Given the description of an element on the screen output the (x, y) to click on. 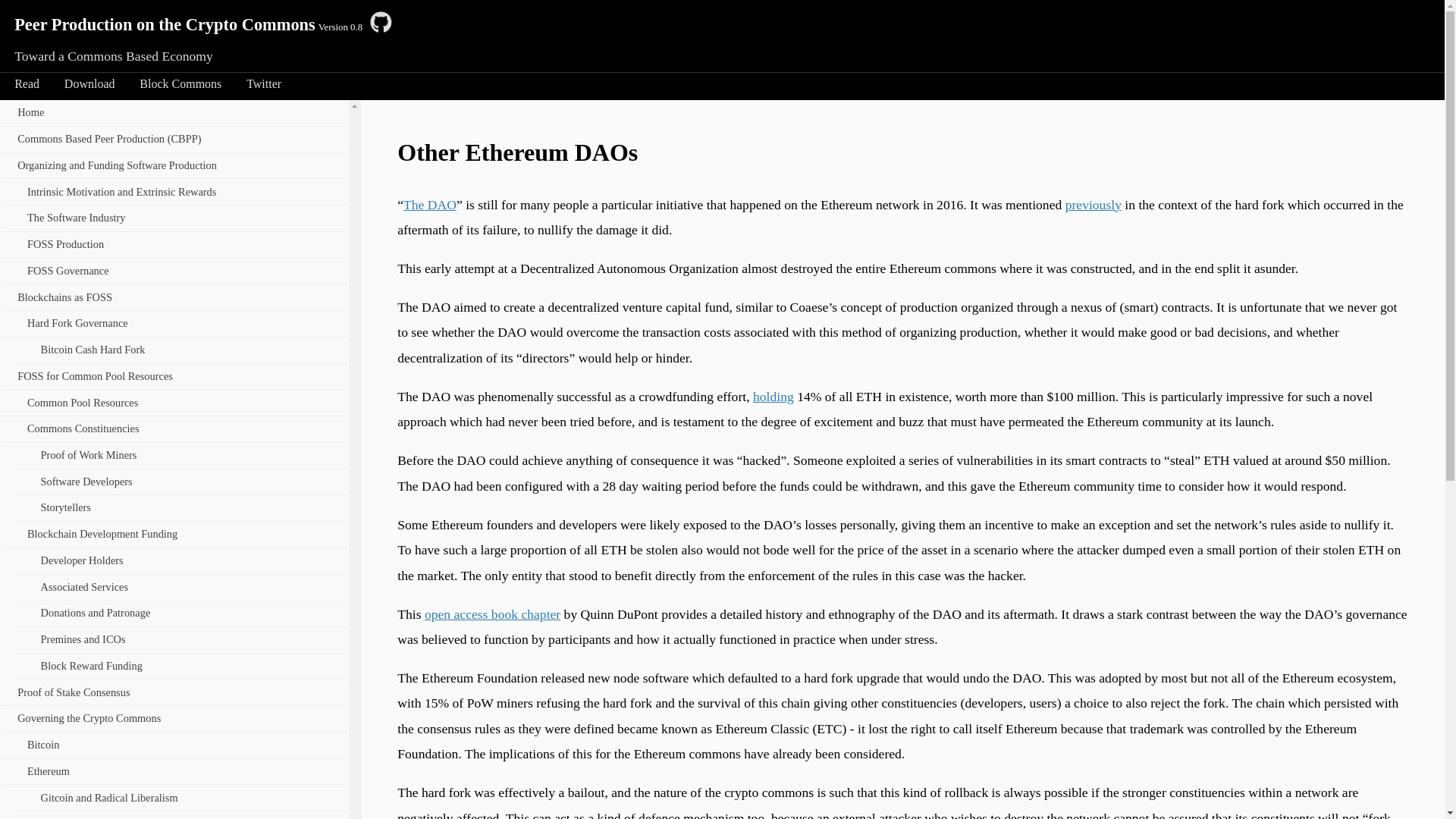
Developer Holders Element type: text (181, 561)
Common Pool Resources Element type: text (174, 402)
FOSS Governance Element type: text (174, 271)
Donations and Patronage Element type: text (181, 613)
holding Element type: text (773, 396)
Proof of Work Miners Element type: text (181, 455)
previously Element type: text (1093, 204)
FOSS Production Element type: text (174, 245)
Bitcoin Cash Hard Fork Element type: text (181, 350)
Software Developers Element type: text (181, 482)
Twitter Element type: text (263, 83)
The DAO Element type: text (429, 204)
Ethereum Element type: text (174, 772)
Premines and ICOs Element type: text (181, 640)
Blockchain Development Funding Element type: text (174, 534)
Proof of Stake Consensus Element type: text (174, 692)
Download Element type: text (89, 83)
Bitcoin Element type: text (174, 745)
The Software Industry Element type: text (174, 218)
Block Commons Element type: text (180, 83)
Governing the Crypto Commons Element type: text (174, 719)
Read Element type: text (26, 83)
open access book chapter Element type: text (492, 613)
FOSS for Common Pool Resources Element type: text (174, 377)
Organizing and Funding Software Production Element type: text (174, 166)
Storytellers Element type: text (181, 508)
Commons Based Peer Production (CBPP) Element type: text (174, 139)
Home Element type: text (174, 113)
Hard Fork Governance Element type: text (174, 323)
Gitcoin and Radical Liberalism Element type: text (181, 797)
Block Reward Funding Element type: text (181, 666)
Associated Services Element type: text (181, 587)
Commons Constituencies Element type: text (174, 429)
Blockchains as FOSS Element type: text (174, 297)
Intrinsic Motivation and Extrinsic Rewards Element type: text (174, 191)
